Given the description of an element on the screen output the (x, y) to click on. 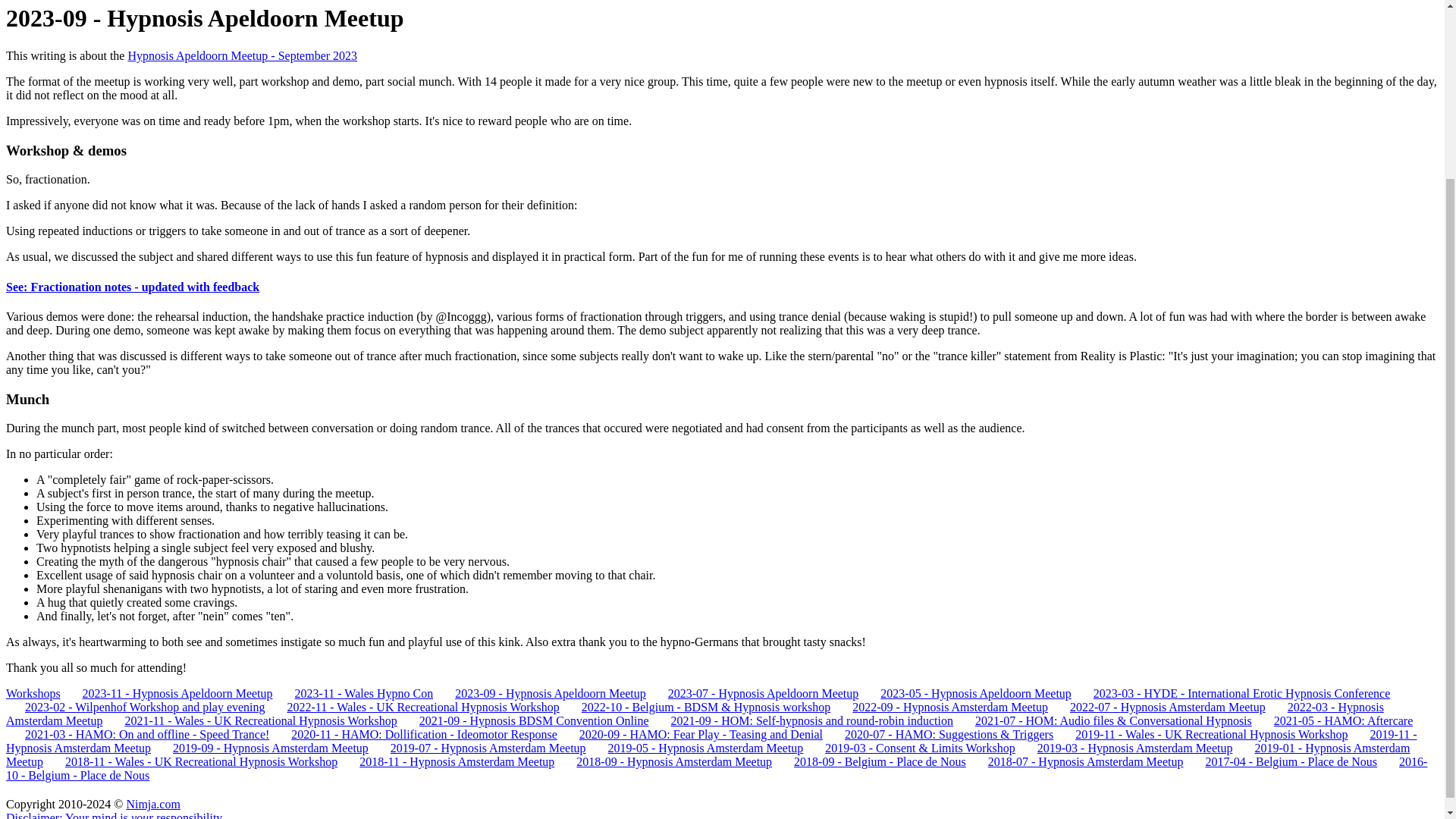
2022-09 - Hypnosis Amsterdam Meetup (940, 707)
2020-11 - HAMO: Dollification - Ideomotor Response (414, 734)
2021-09 - Hypnosis BDSM Convention Online (524, 720)
2023-07 - Hypnosis Apeldoorn Meetup (754, 693)
2021-05 - HAMO: Aftercare (1334, 720)
2021-09 - HOM: Self-hypnosis and round-robin induction (802, 720)
See: Fractionation notes - updated with feedback (132, 286)
2023-11 - Wales Hypno Con (354, 693)
2022-03 - Hypnosis Amsterdam Meetup (694, 714)
2021-03 - HAMO: On and offline - Speed Trance! (137, 734)
2023-03 - HYDE - International Erotic Hypnosis Conference (1232, 693)
2023-02 - Wilpenhof Workshop and play evening (134, 707)
Hypnosis Apeldoorn Meetup - September 2023 (242, 55)
2023-09 - Hypnosis Apeldoorn Meetup (540, 693)
2023-11 - Hypnosis Apeldoorn Meetup (168, 693)
